Given the description of an element on the screen output the (x, y) to click on. 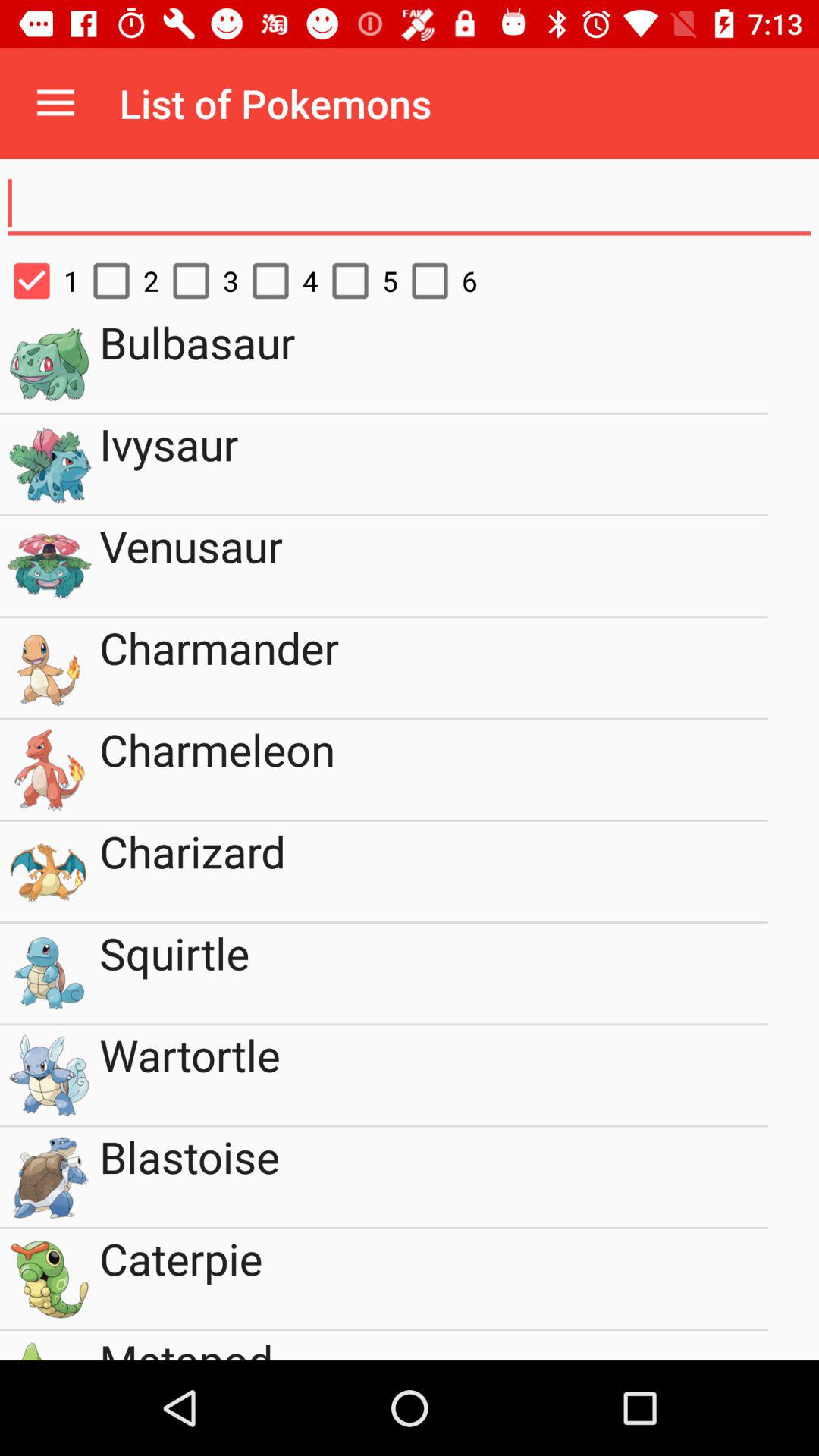
launch the icon next to list of pokemons item (55, 103)
